Given the description of an element on the screen output the (x, y) to click on. 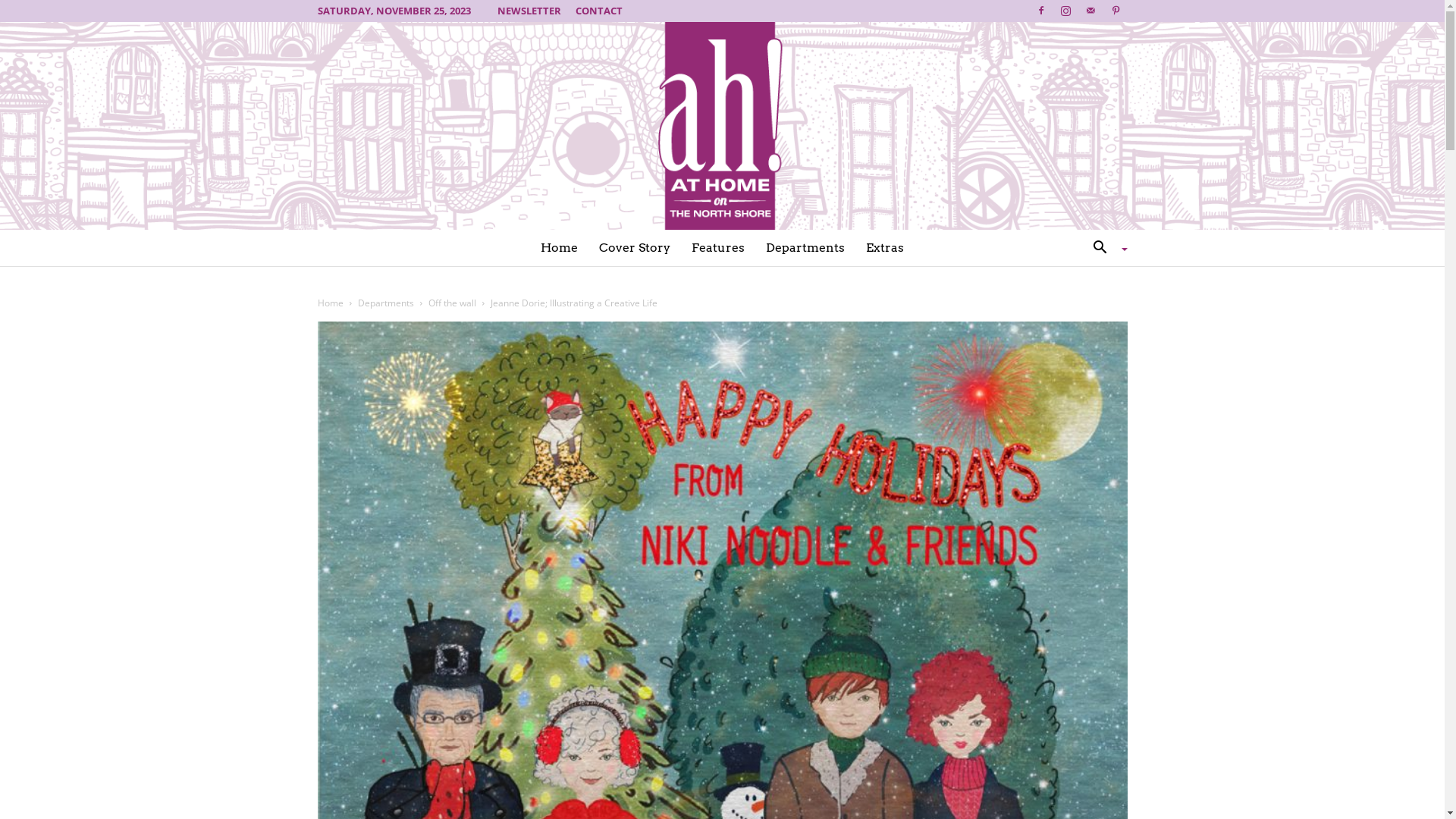
Off the wall Element type: text (451, 302)
NEWSLETTER Element type: text (529, 10)
Pinterest Element type: hover (1115, 10)
Home Element type: text (559, 247)
Search Element type: text (1082, 308)
Departments Element type: text (805, 247)
Facebook Element type: hover (1040, 10)
Mail Element type: hover (1090, 10)
Features Element type: text (717, 247)
Extras Element type: text (884, 247)
Home Element type: text (329, 302)
At Home on the North Shore Element type: text (722, 125)
CONTACT Element type: text (597, 10)
Cover Story Element type: text (634, 247)
Departments Element type: text (385, 302)
Instagram Element type: hover (1065, 10)
